Given the description of an element on the screen output the (x, y) to click on. 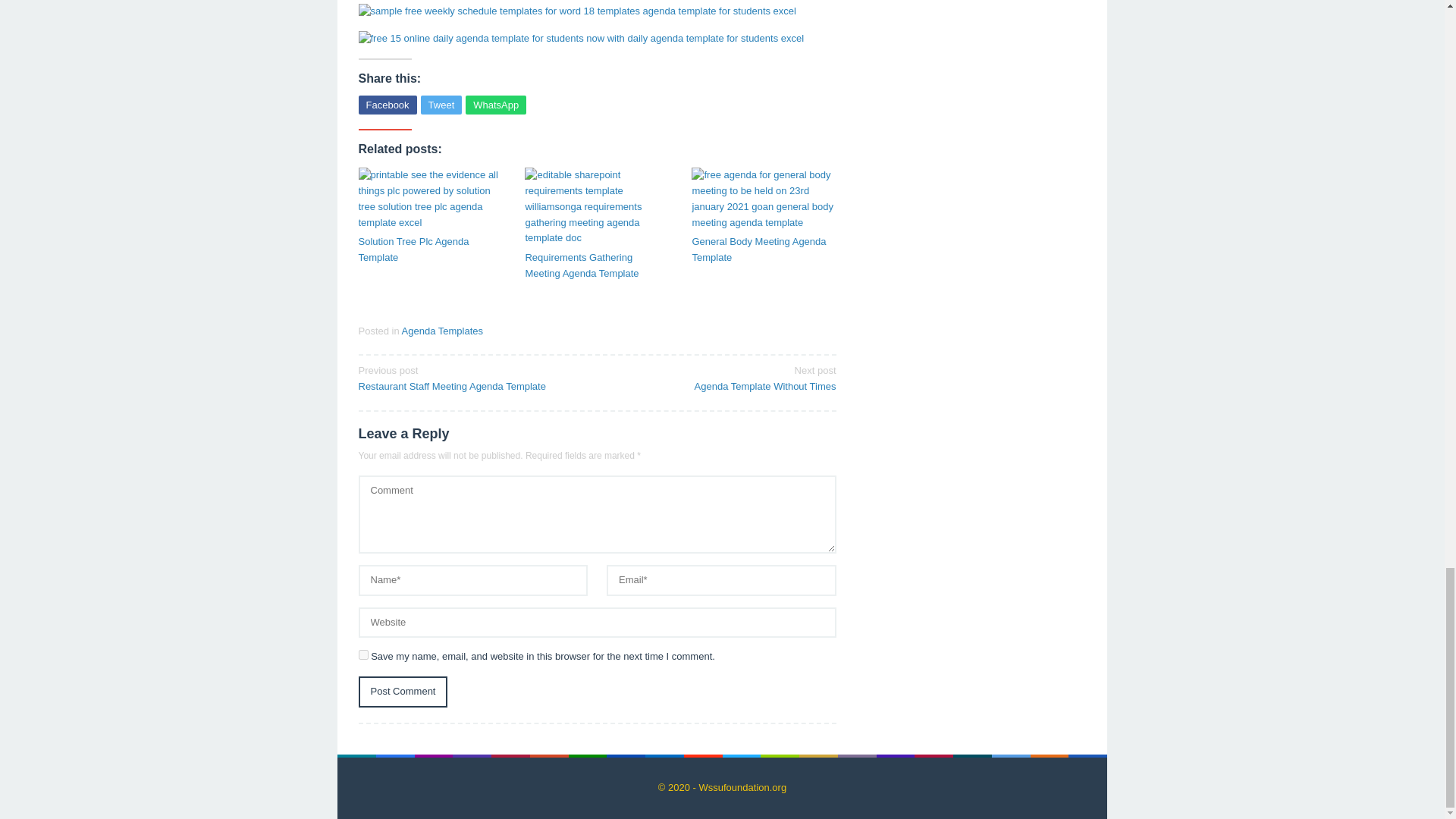
WhatsApp this (495, 104)
Share this (387, 104)
General Body Meeting Agenda Template (763, 250)
Permalink to: Solution Tree Plc Agenda Template (472, 377)
Facebook (430, 250)
Post Comment (387, 104)
Tweet this (402, 691)
Permalink to: General Body Meeting Agenda Template (441, 104)
Permalink to: Solution Tree Plc Agenda Template (763, 250)
